Given the description of an element on the screen output the (x, y) to click on. 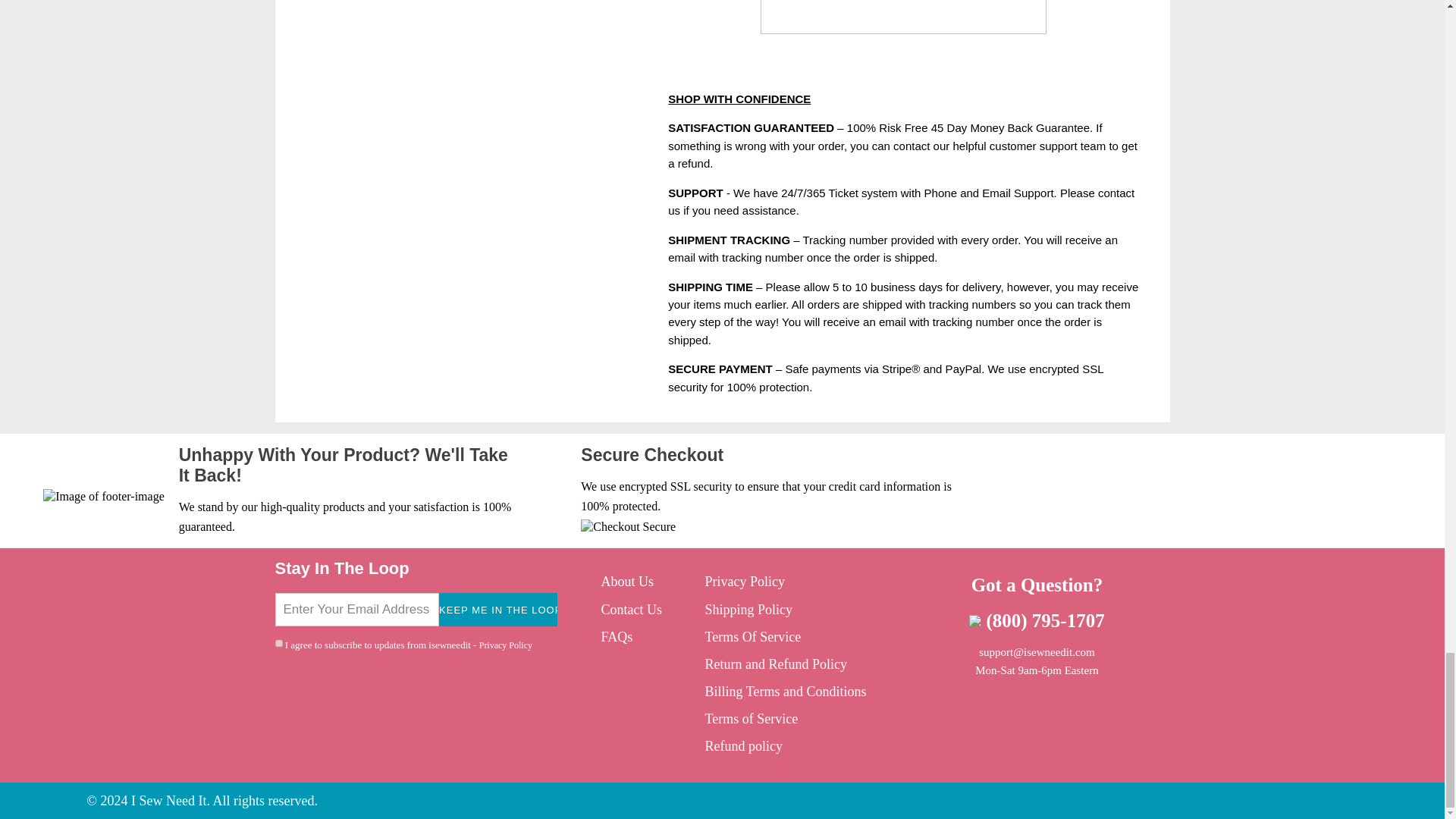
KEEP ME IN THE LOOP (498, 609)
